Given the description of an element on the screen output the (x, y) to click on. 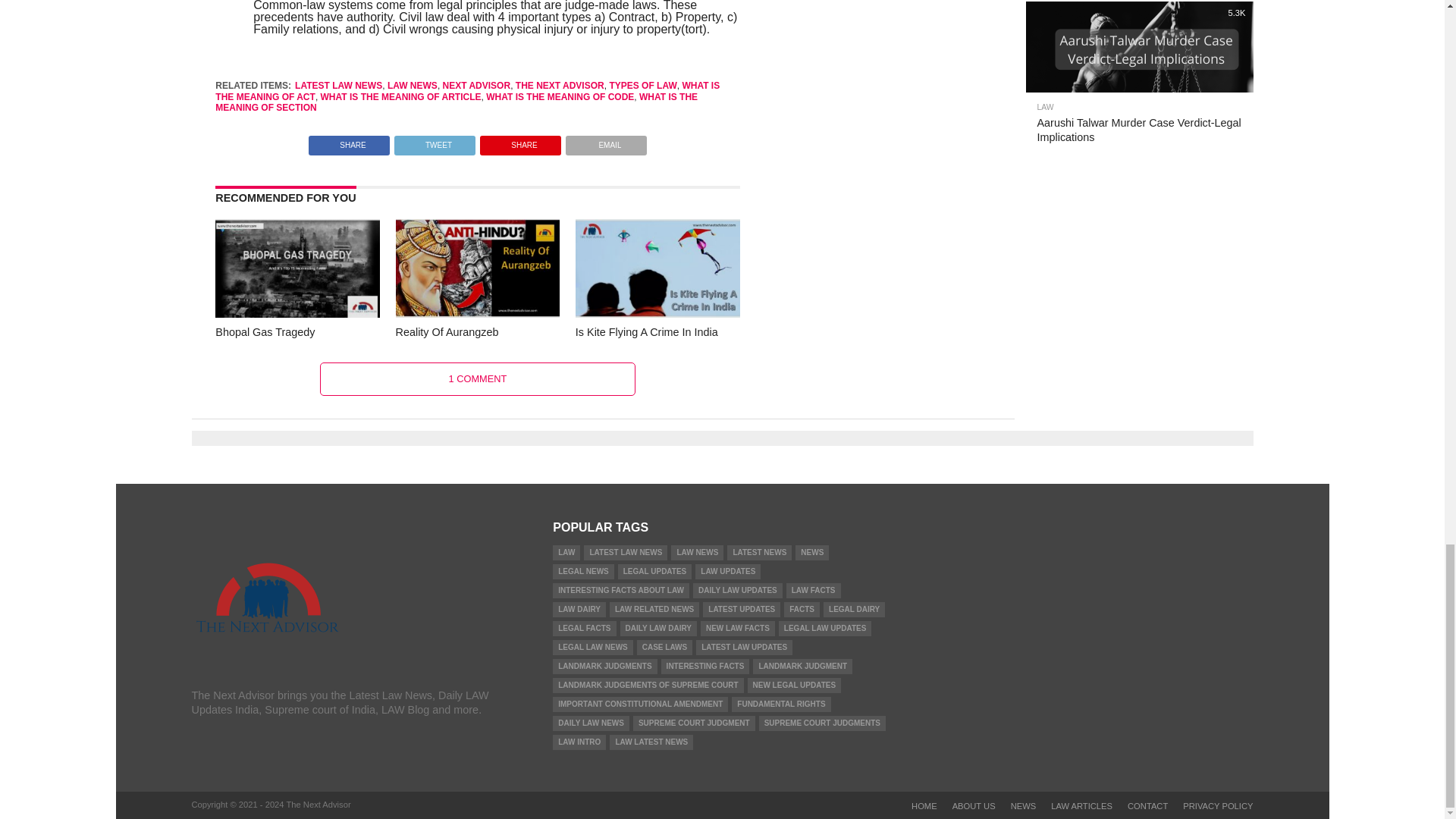
TWEET (434, 141)
Is Kite Flying A Crime In India (657, 313)
Pin This Post (520, 141)
LAW NEWS (412, 85)
WHAT IS THE MEANING OF ACT (467, 90)
Share on Facebook (349, 141)
SHARE (349, 141)
TYPES OF LAW (642, 85)
WHAT IS THE MEANING OF CODE (559, 96)
Reality Of Aurangzeb (478, 313)
WHAT IS THE MEANING OF ARTICLE (400, 96)
Tweet This Post (434, 141)
NEXT ADVISOR (476, 85)
LATEST LAW NEWS (338, 85)
THE NEXT ADVISOR (559, 85)
